Given the description of an element on the screen output the (x, y) to click on. 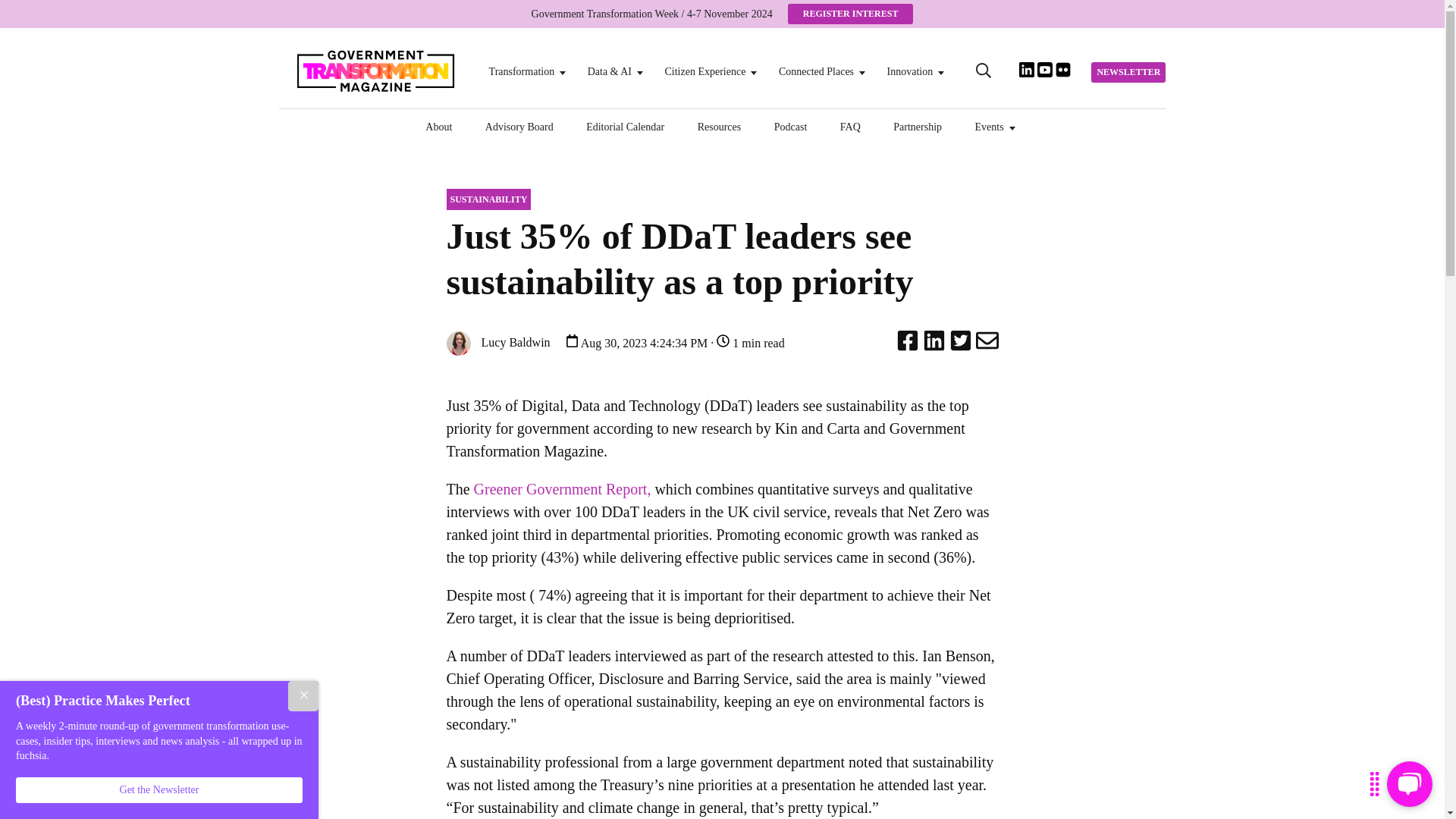
Connected Places (815, 71)
Newsletter (1128, 72)
Citizen Experience (704, 71)
Register Interest (850, 14)
About (438, 126)
Innovation (909, 71)
Resources (719, 126)
Editorial Calendar (624, 126)
Reading time (722, 340)
Partnership (917, 126)
FAQ (850, 126)
REGISTER INTEREST (850, 14)
NEWSLETTER (1128, 72)
calendar icon (572, 340)
GT Mag Logo - for homepage-1 (373, 70)
